Given the description of an element on the screen output the (x, y) to click on. 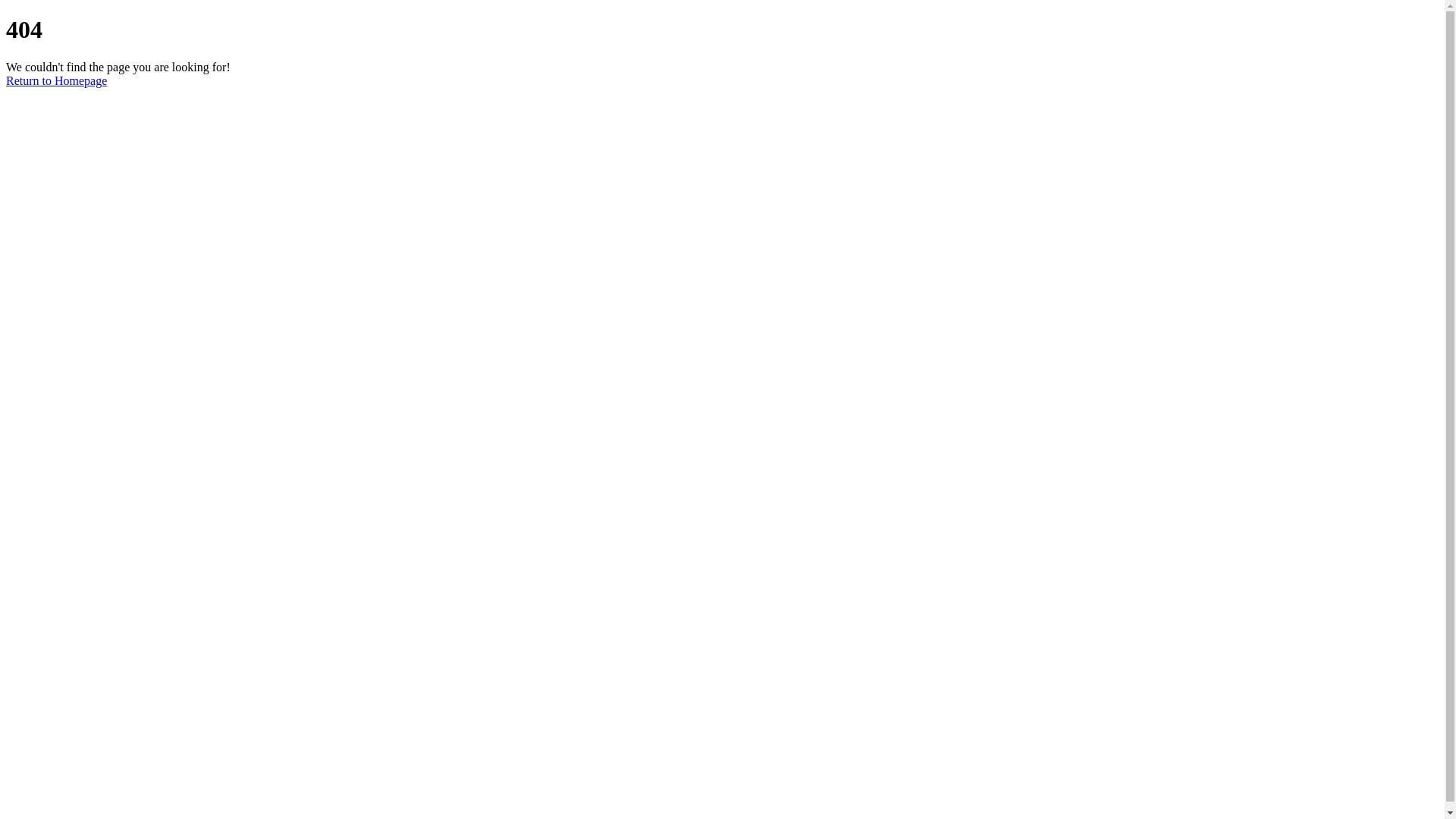
Return to Homepage Element type: text (56, 80)
